Given the description of an element on the screen output the (x, y) to click on. 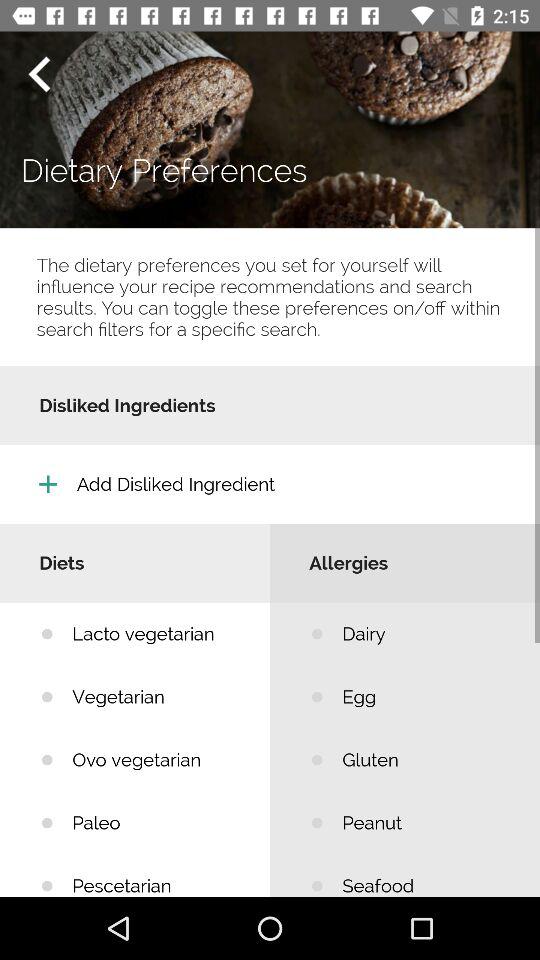
press icon below the ovo vegetarian item (156, 822)
